Given the description of an element on the screen output the (x, y) to click on. 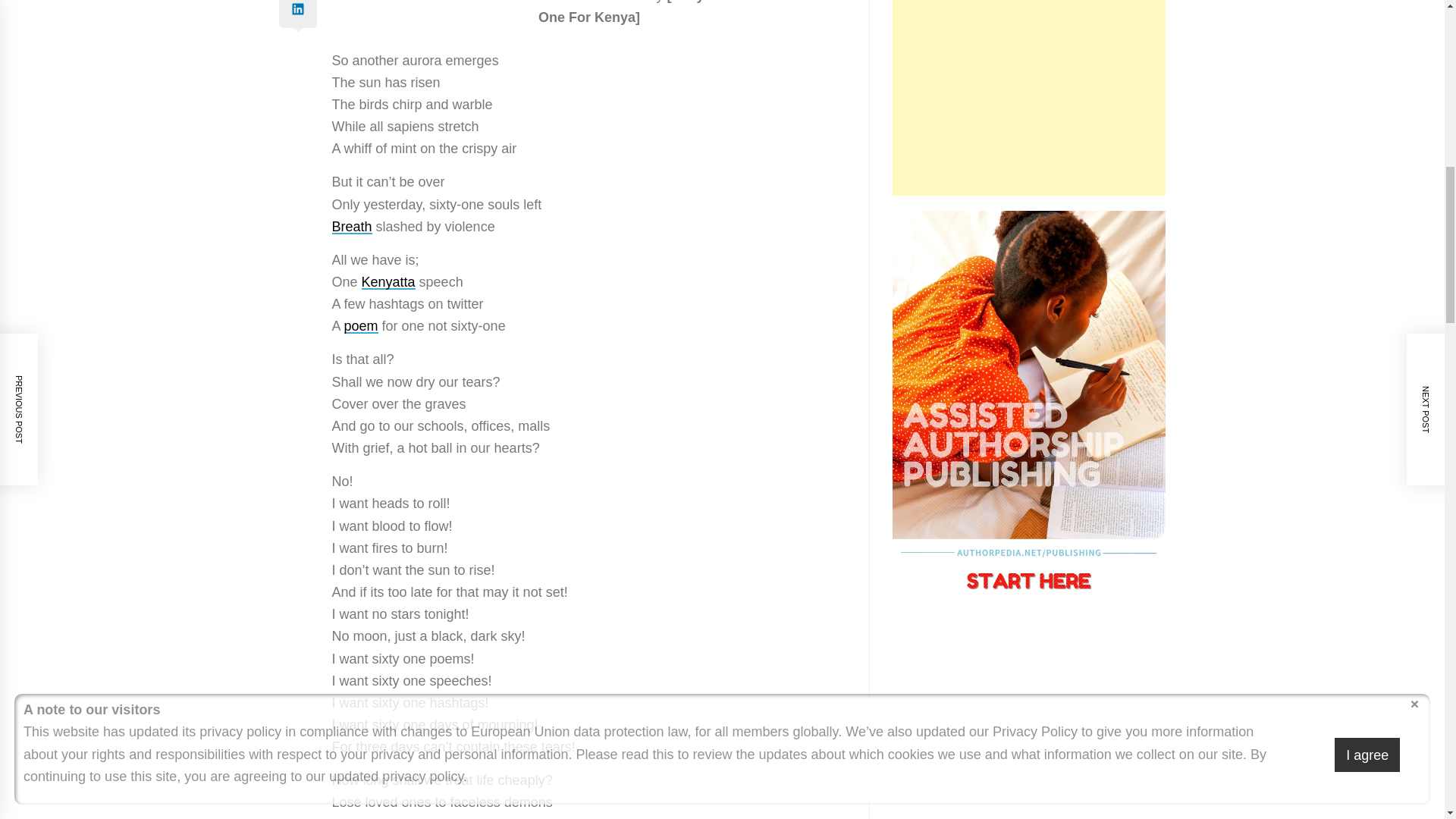
Poetry (360, 325)
Breath (351, 226)
Jomo Kenyatta (387, 281)
